Given the description of an element on the screen output the (x, y) to click on. 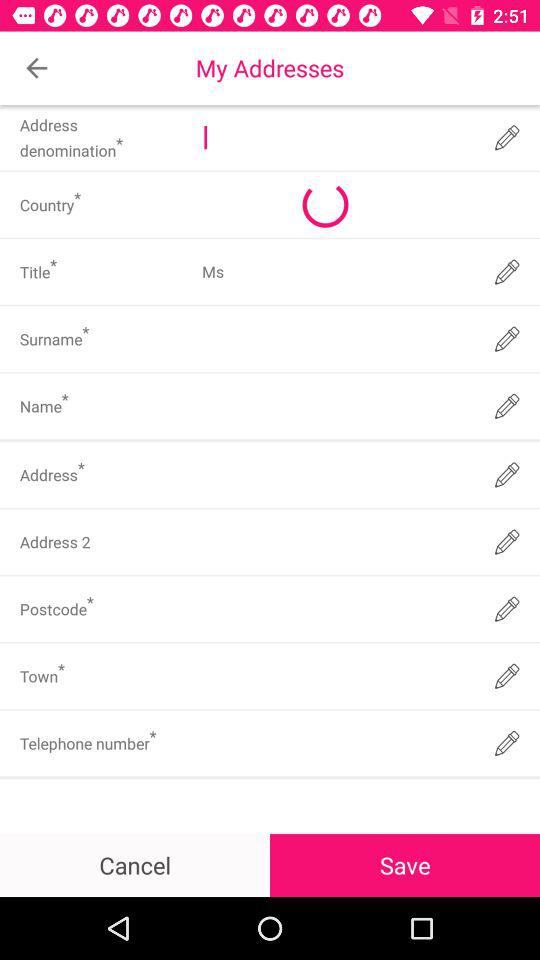
launch save (405, 864)
